Given the description of an element on the screen output the (x, y) to click on. 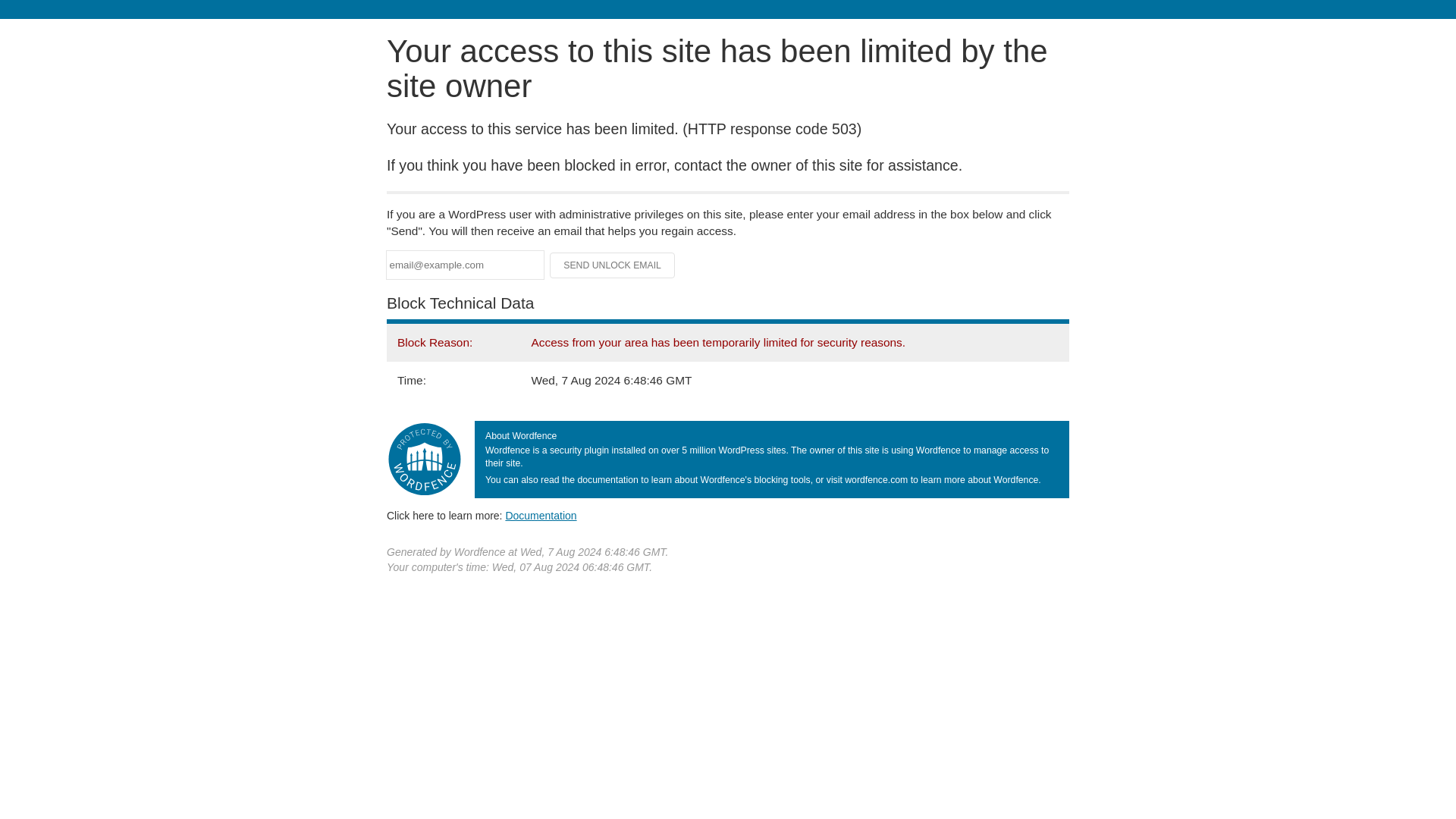
Documentation (540, 515)
Send Unlock Email (612, 265)
Send Unlock Email (612, 265)
